Given the description of an element on the screen output the (x, y) to click on. 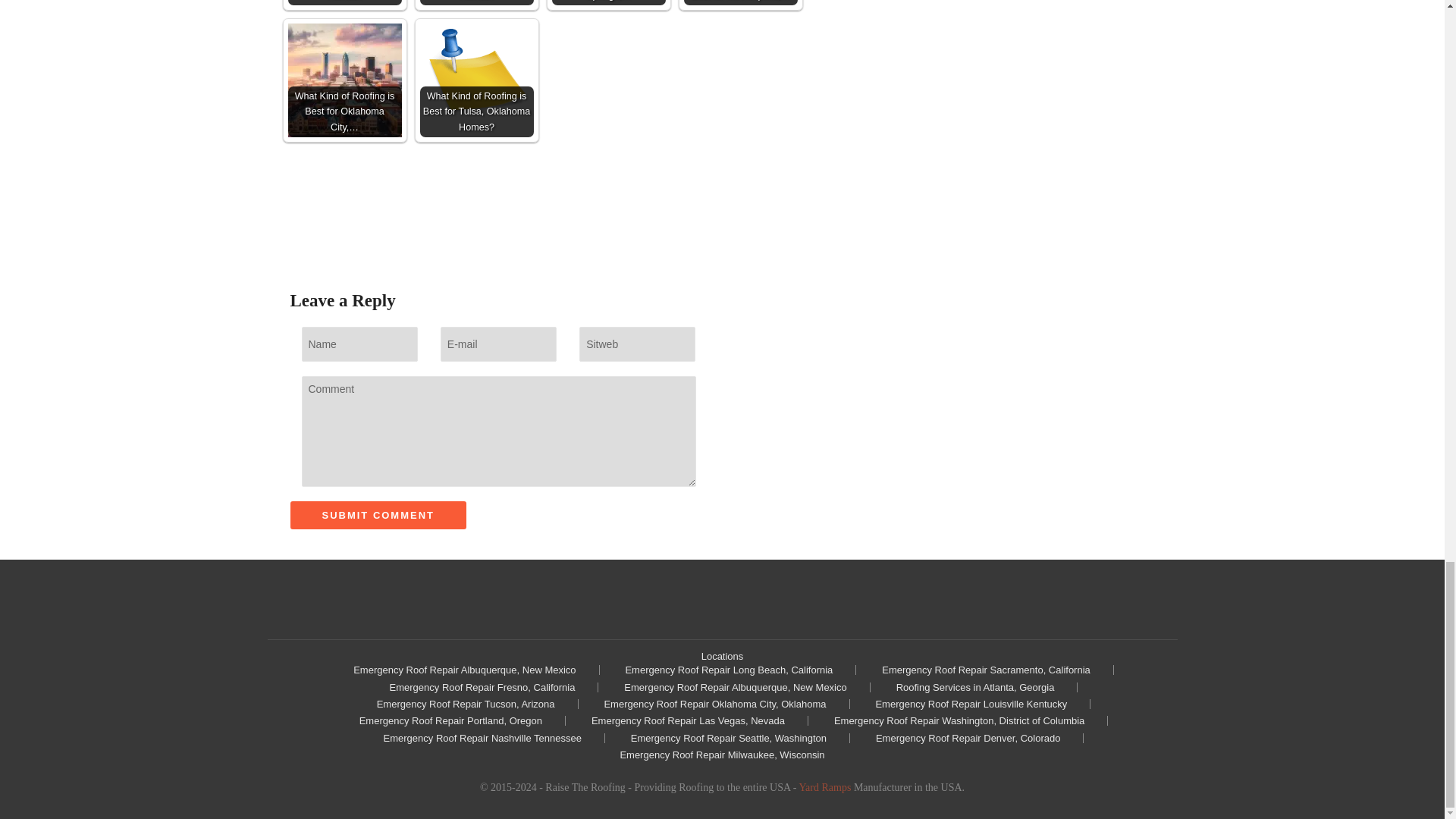
Submit Comment (377, 515)
What Kind of Roofing is Best for Tulsa, Oklahoma Homes? (477, 80)
What Kind of Roofing is Best for Austin, Texas Homes? (477, 2)
What Kind of Roofing is Best for Tulsa, Oklahoma Homes? (477, 80)
What Kind of Roofing is Best for Wichita, Kansas Homes? (344, 2)
Submit Comment (377, 515)
What Kind of Roofing is Best for Austin, Texas Homes? (477, 2)
What Kind of Roofing is Best for Wichita, Kansas Homes? (344, 2)
